Given the description of an element on the screen output the (x, y) to click on. 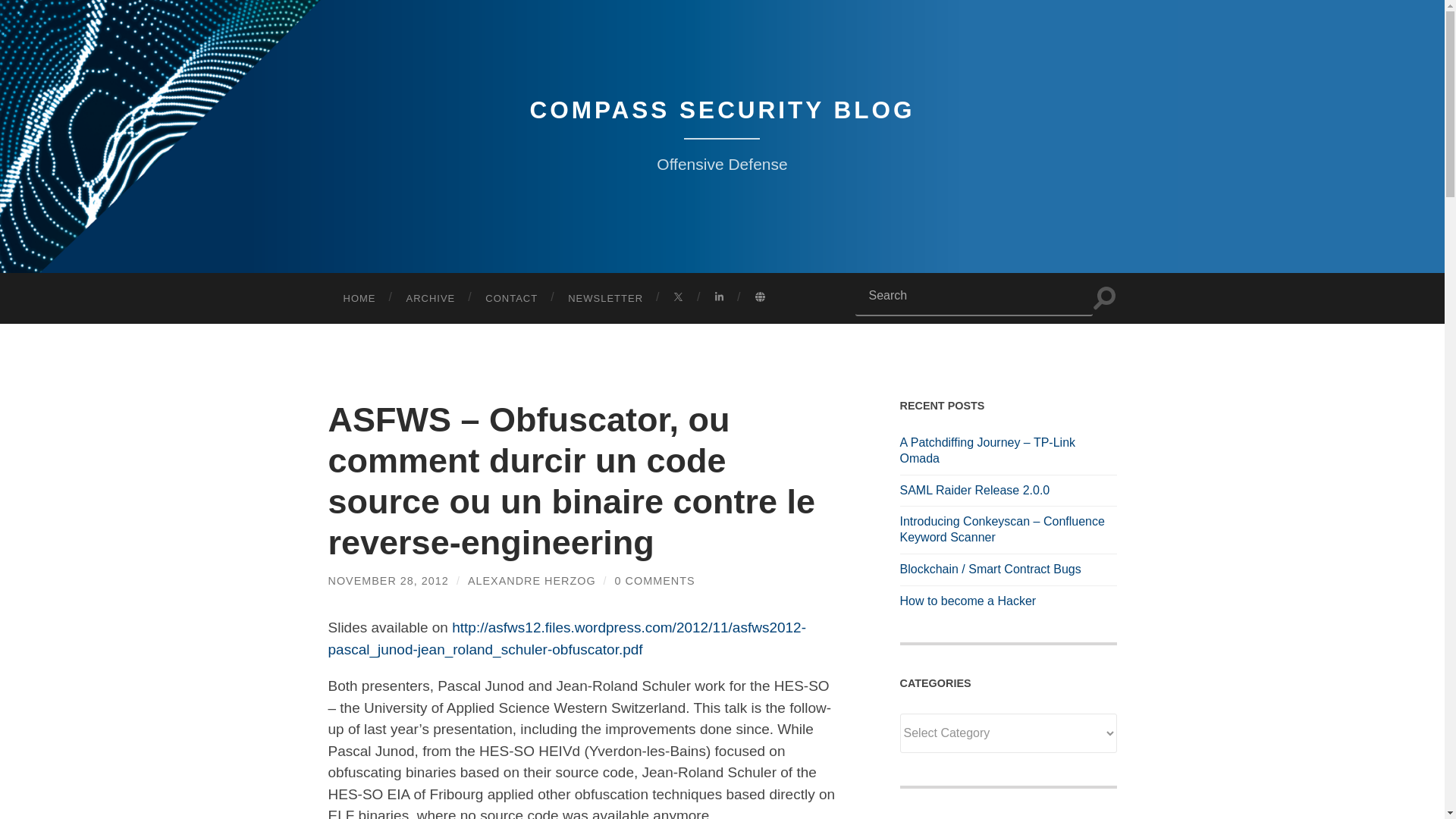
NOVEMBER 28, 2012 (387, 580)
COMPASS SECURITY BLOG (721, 109)
Posts by Alexandre Herzog (531, 580)
How to become a Hacker (1007, 601)
CONTACT (511, 297)
HOME (358, 297)
SAML Raider Release 2.0.0 (1007, 490)
ALEXANDRE HERZOG (531, 580)
ARCHIVE (430, 297)
NEWSLETTER (605, 297)
